Given the description of an element on the screen output the (x, y) to click on. 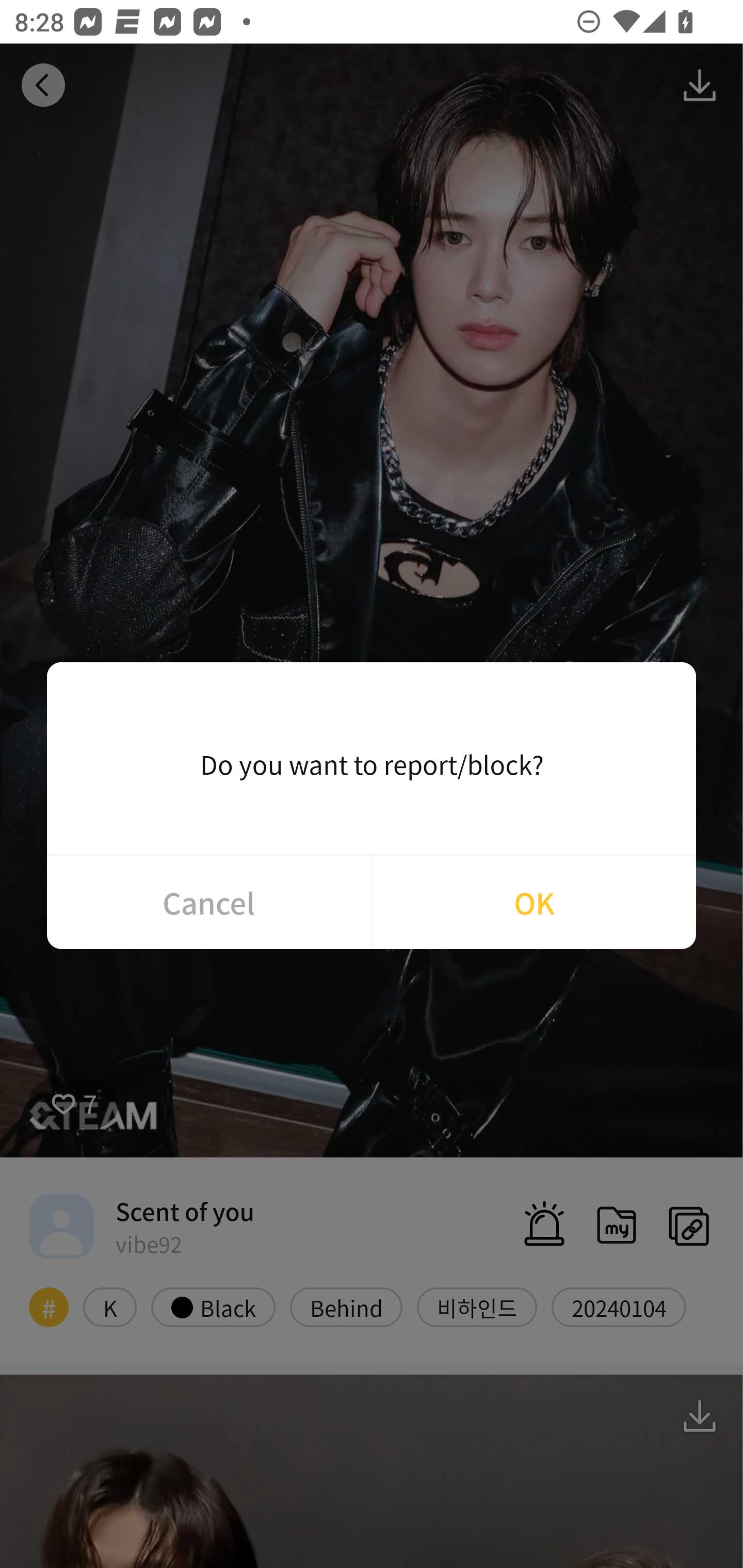
Cancel (208, 902)
OK (534, 902)
